Given the description of an element on the screen output the (x, y) to click on. 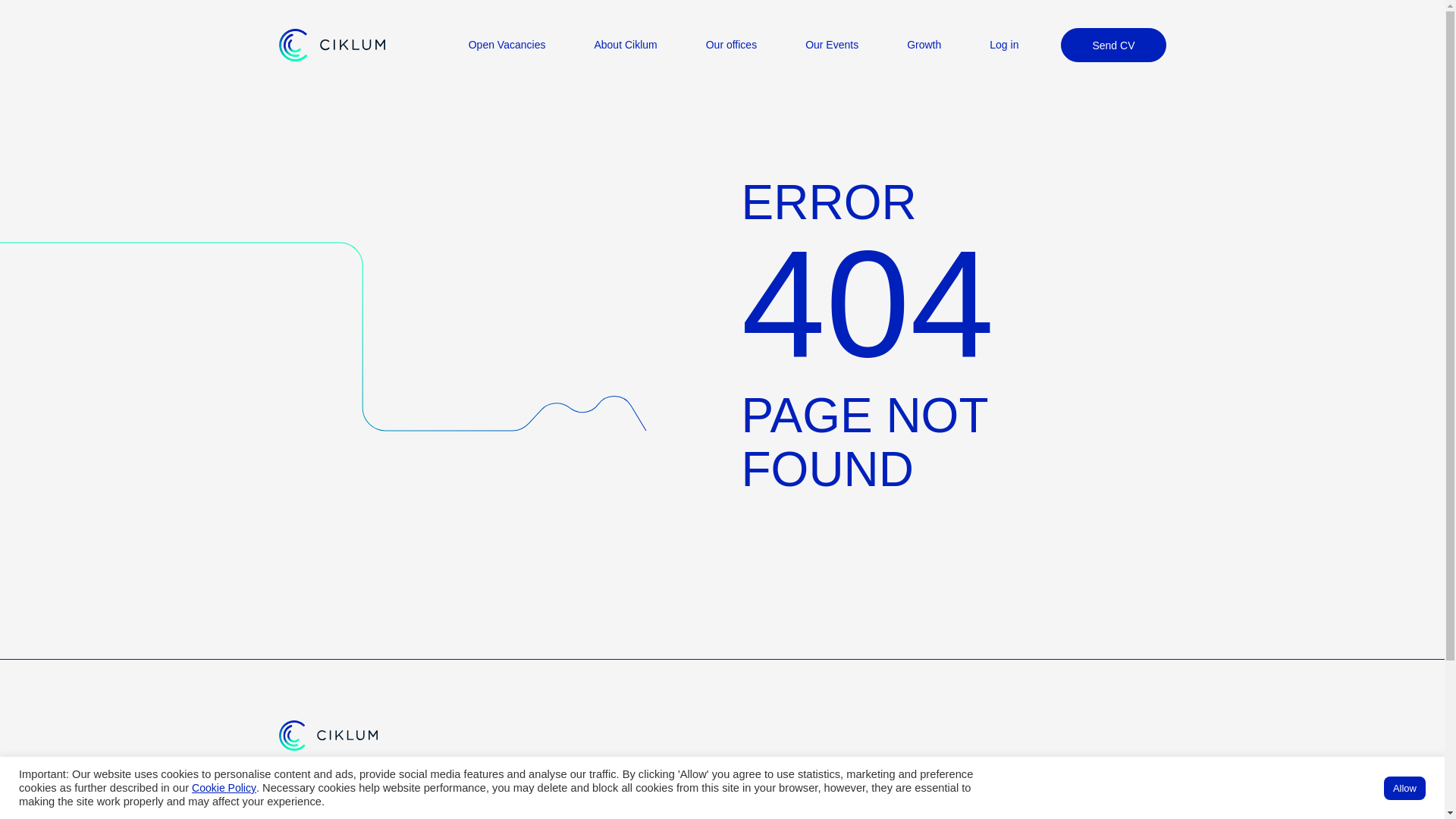
Log in (1003, 44)
Our Events (832, 44)
About us (299, 801)
Open Vacancies (507, 44)
Our offices (731, 44)
Send CV (1113, 44)
About Ciklum (625, 44)
Allow (1404, 788)
Cookie Policy (224, 787)
Growth (923, 44)
Ciklum (1150, 802)
